Given the description of an element on the screen output the (x, y) to click on. 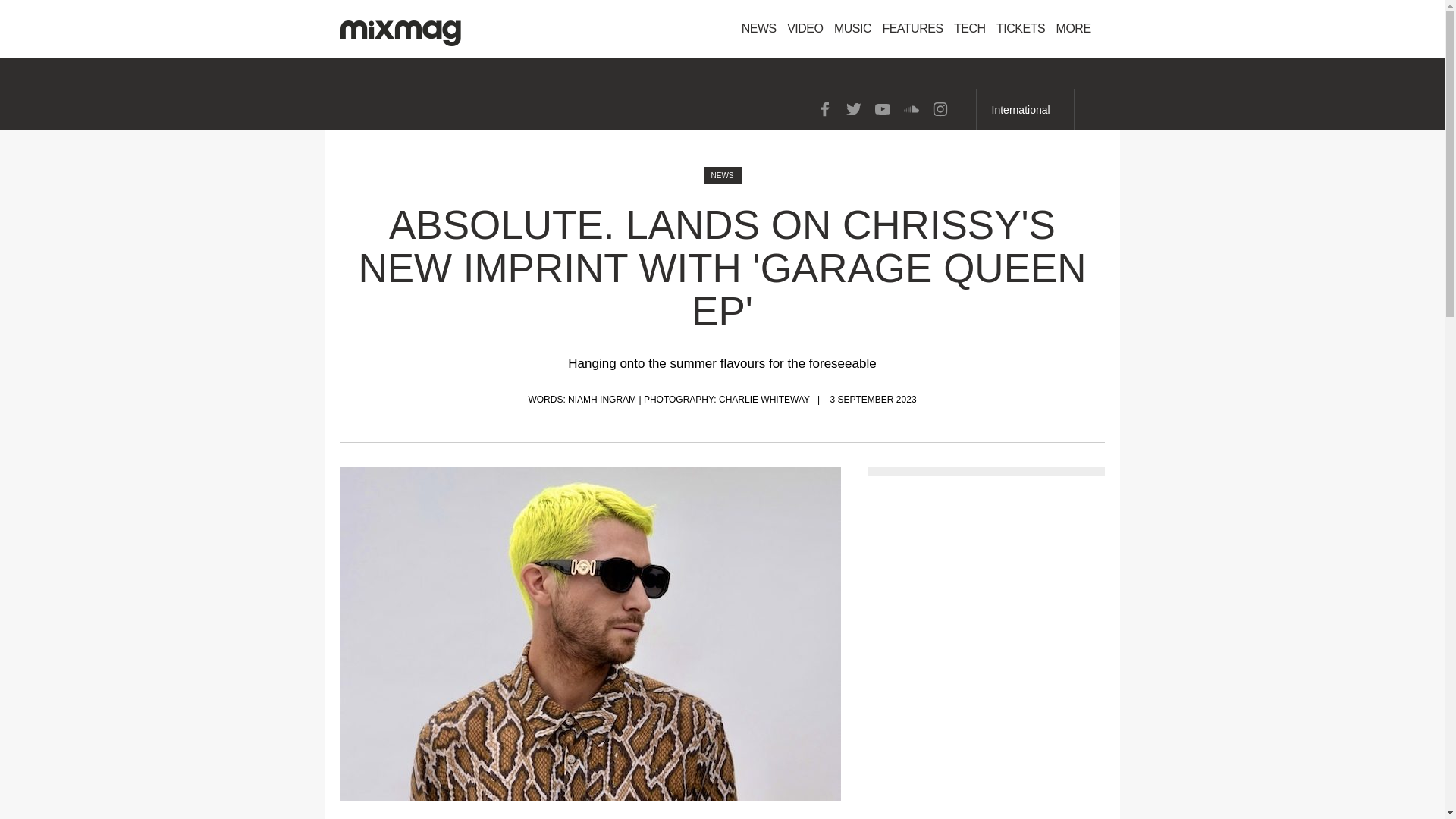
FEATURES (911, 28)
MORE (1078, 28)
TICKETS (1020, 28)
